Given the description of an element on the screen output the (x, y) to click on. 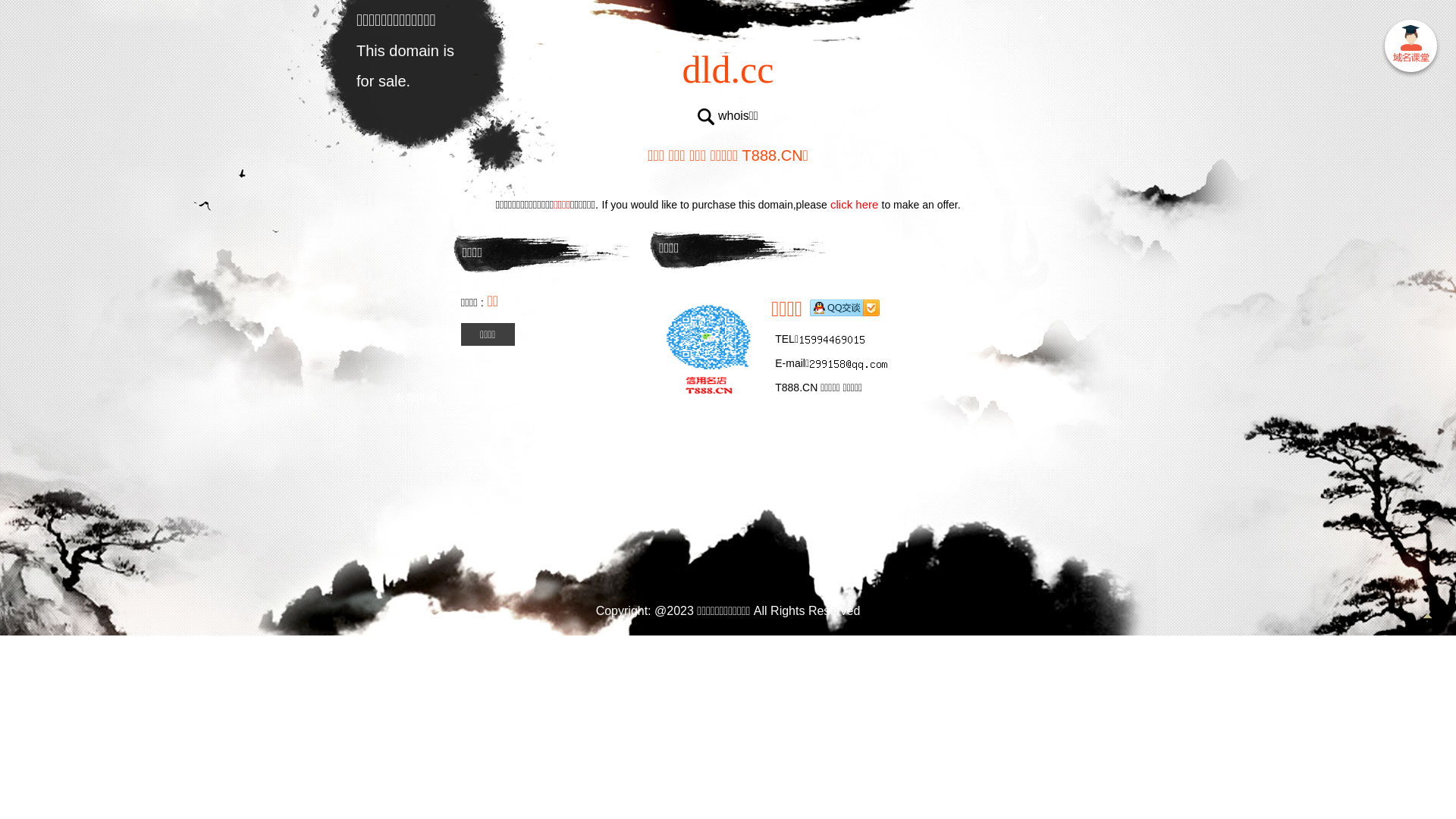
Advertisement Element type: hover (727, 507)
  Element type: text (1410, 48)
click here Element type: text (854, 203)
